Given the description of an element on the screen output the (x, y) to click on. 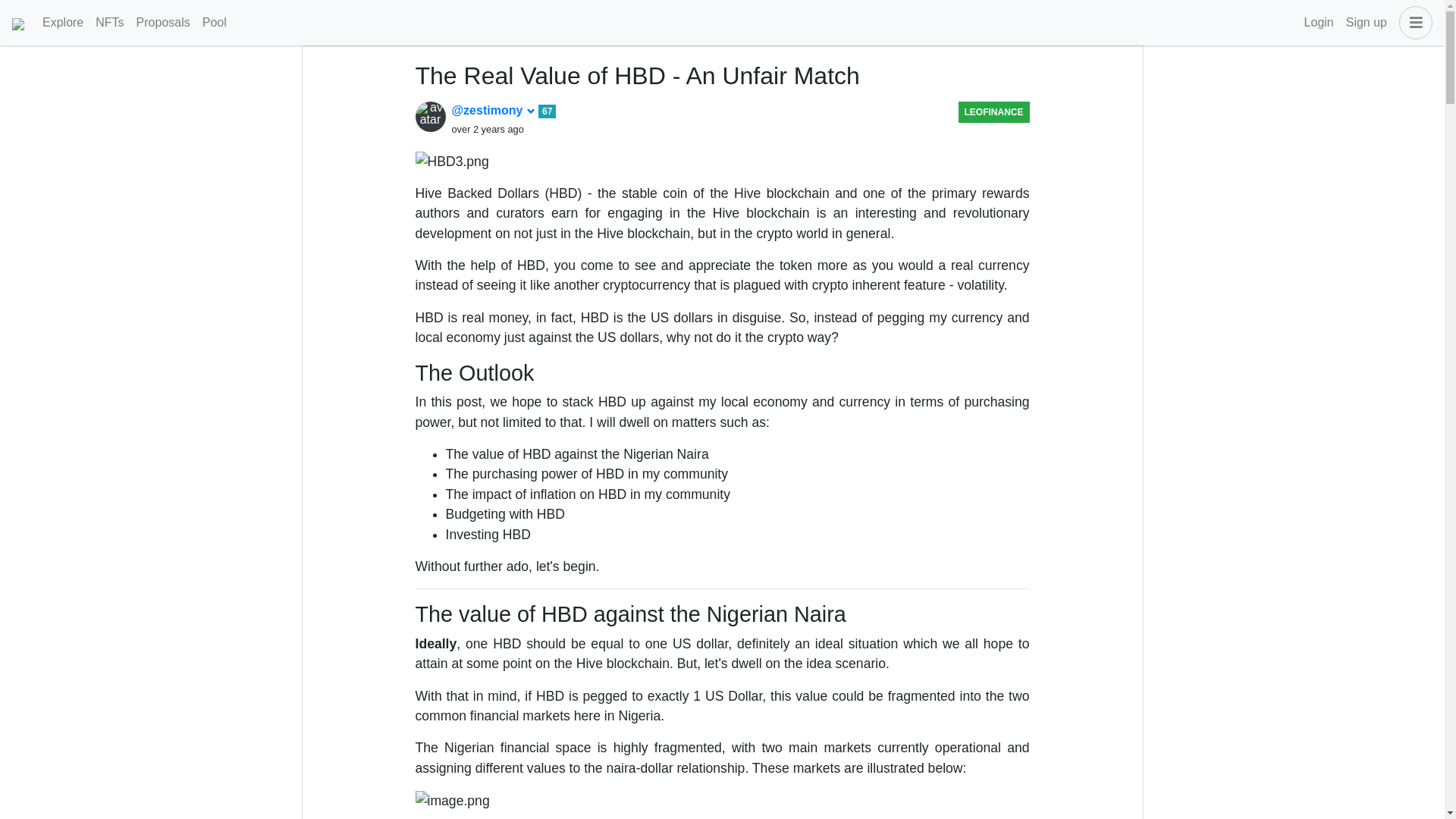
NFTs (108, 22)
Pool (214, 22)
Proposals (163, 22)
LEOFINANCE (993, 112)
Sign up (1366, 22)
Explore (62, 22)
Login (1318, 22)
